Given the description of an element on the screen output the (x, y) to click on. 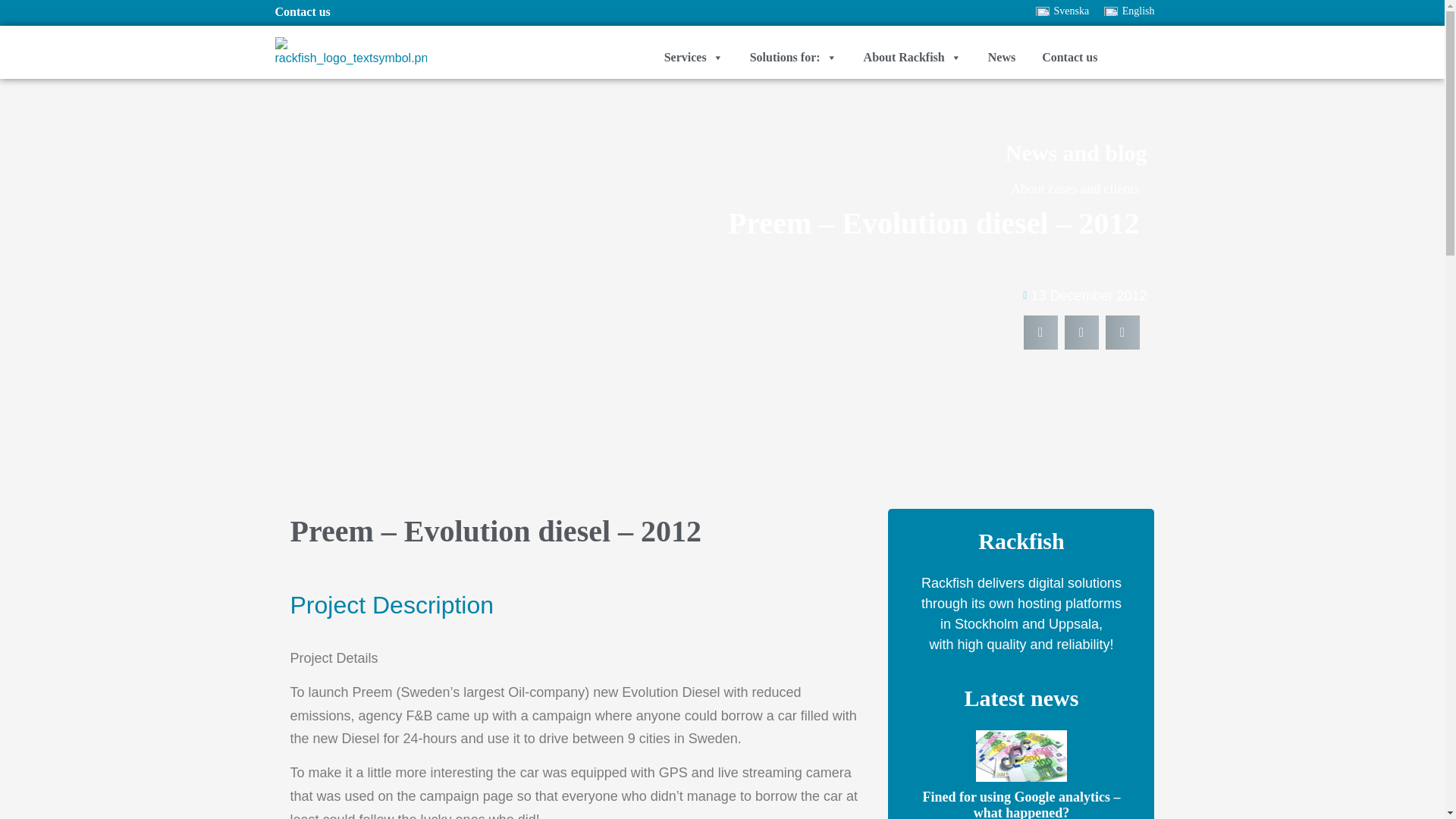
Svenska (1061, 11)
Services (696, 57)
Contact us (302, 11)
English (1128, 11)
